Given the description of an element on the screen output the (x, y) to click on. 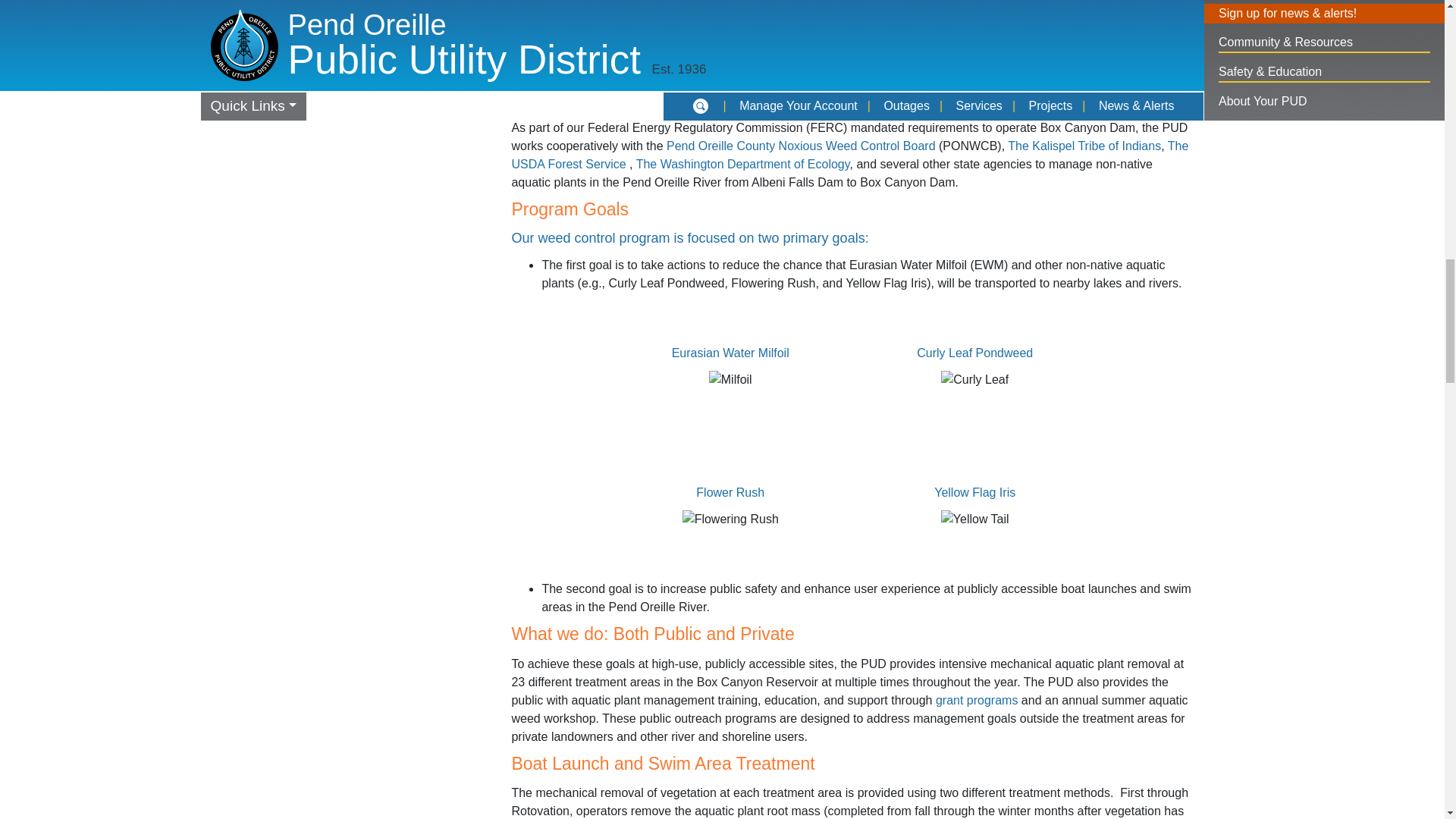
The USDA Forest Service (849, 154)
Flowering Rush (730, 519)
The Kalispel Tribe of Indians (1083, 145)
Milfoil (730, 380)
Pend Oreille Weed Board (801, 145)
Curly Leaf (974, 380)
Yellow Tail (974, 519)
